Given the description of an element on the screen output the (x, y) to click on. 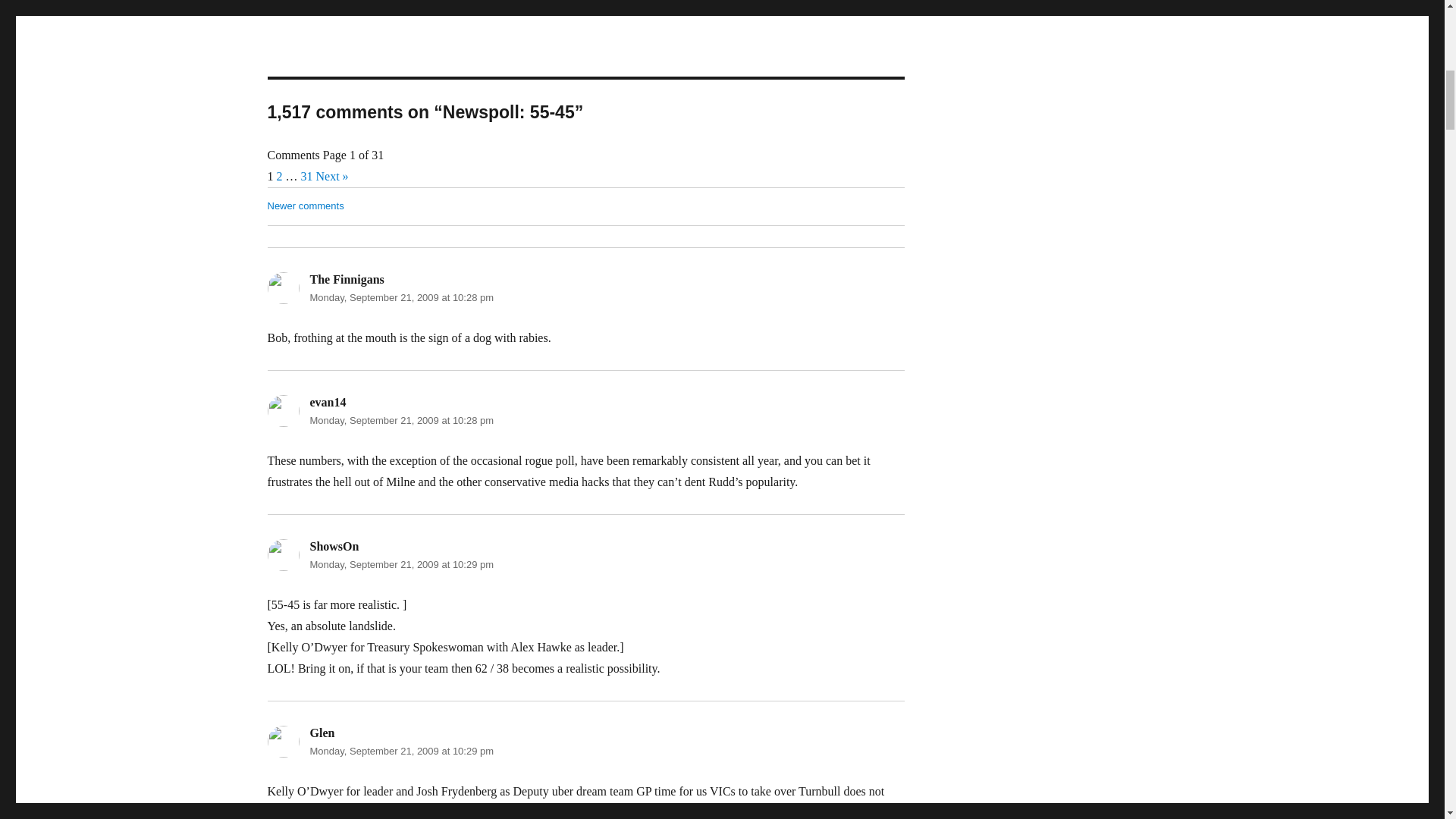
Monday, September 21, 2009 at 10:29 pm (400, 750)
Monday, September 21, 2009 at 10:28 pm (400, 297)
31 (306, 175)
Monday, September 21, 2009 at 10:29 pm (400, 564)
Monday, September 21, 2009 at 10:28 pm (400, 419)
Newer comments (304, 205)
